Given the description of an element on the screen output the (x, y) to click on. 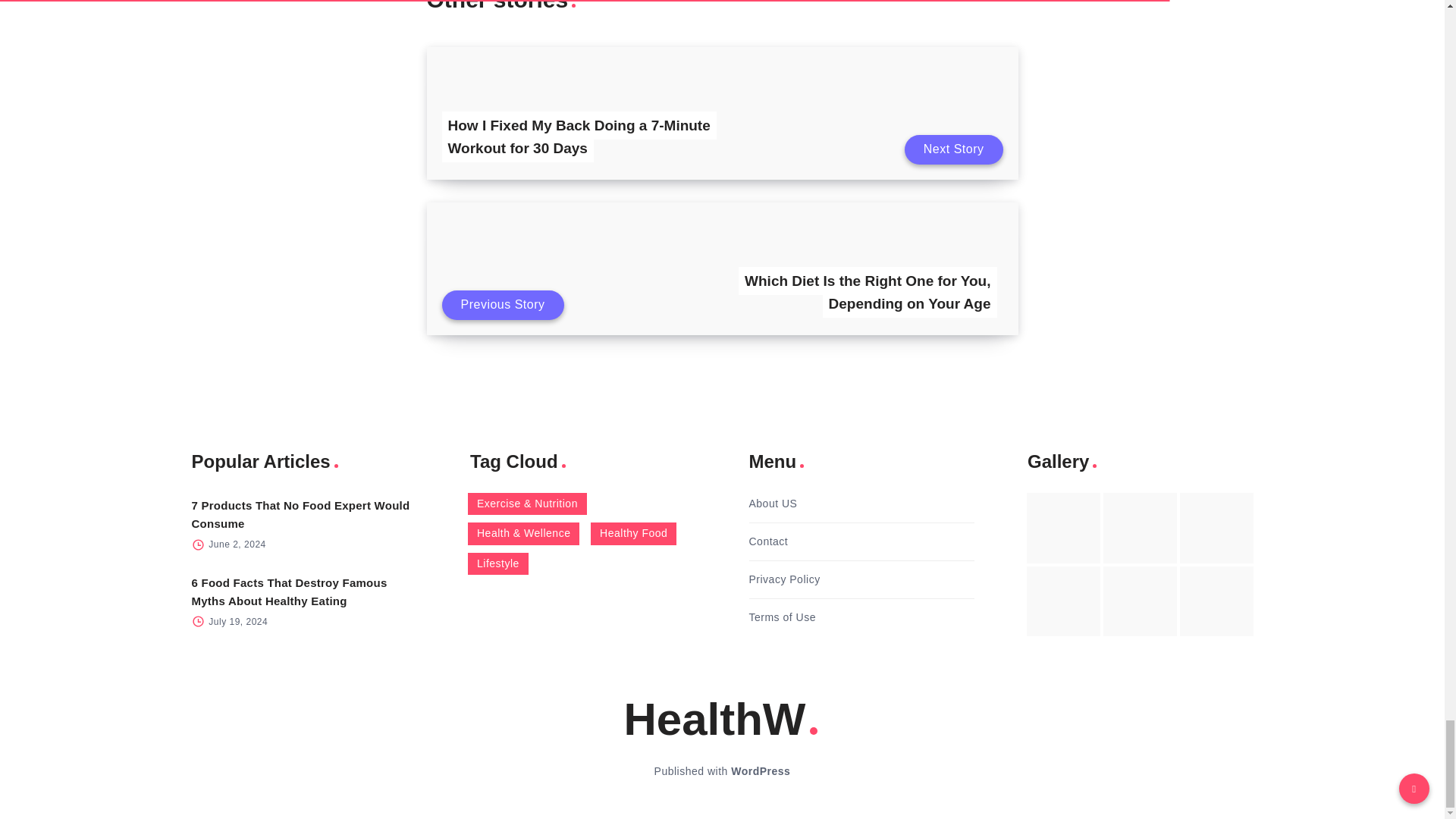
Healthy Food (634, 533)
7 Products That No Food Expert Would Consume (299, 513)
About US (773, 503)
6 Food Facts That Destroy Famous Myths About Healthy Eating (288, 591)
Privacy Policy (785, 579)
Lifestyle (497, 563)
Contact (769, 541)
